Given the description of an element on the screen output the (x, y) to click on. 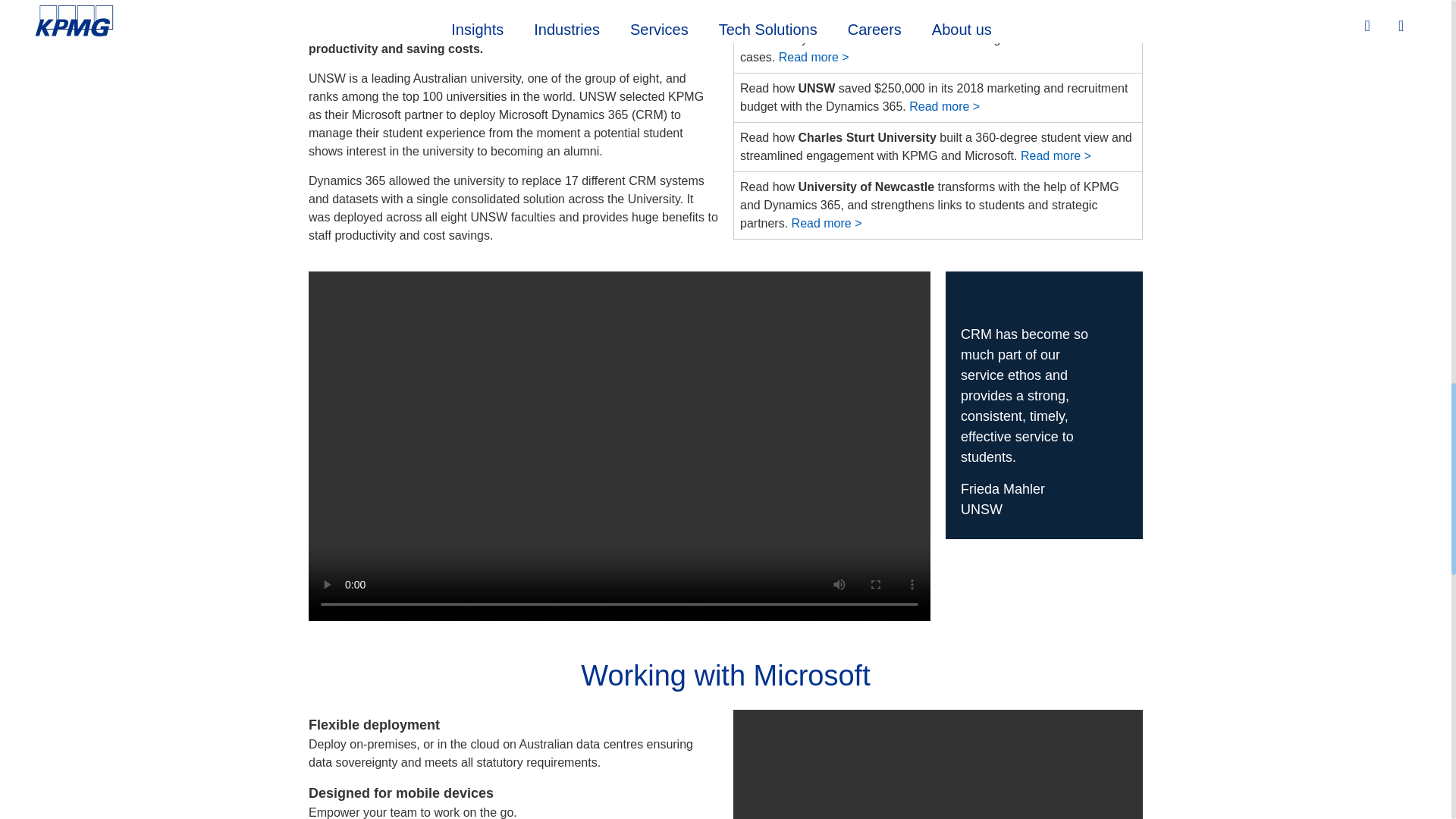
Microsoft News Centre (826, 223)
Microsoft News Centre (1055, 155)
Microsoft News Centre (943, 106)
Managing confidential student cases at Flinders University (813, 56)
